Given the description of an element on the screen output the (x, y) to click on. 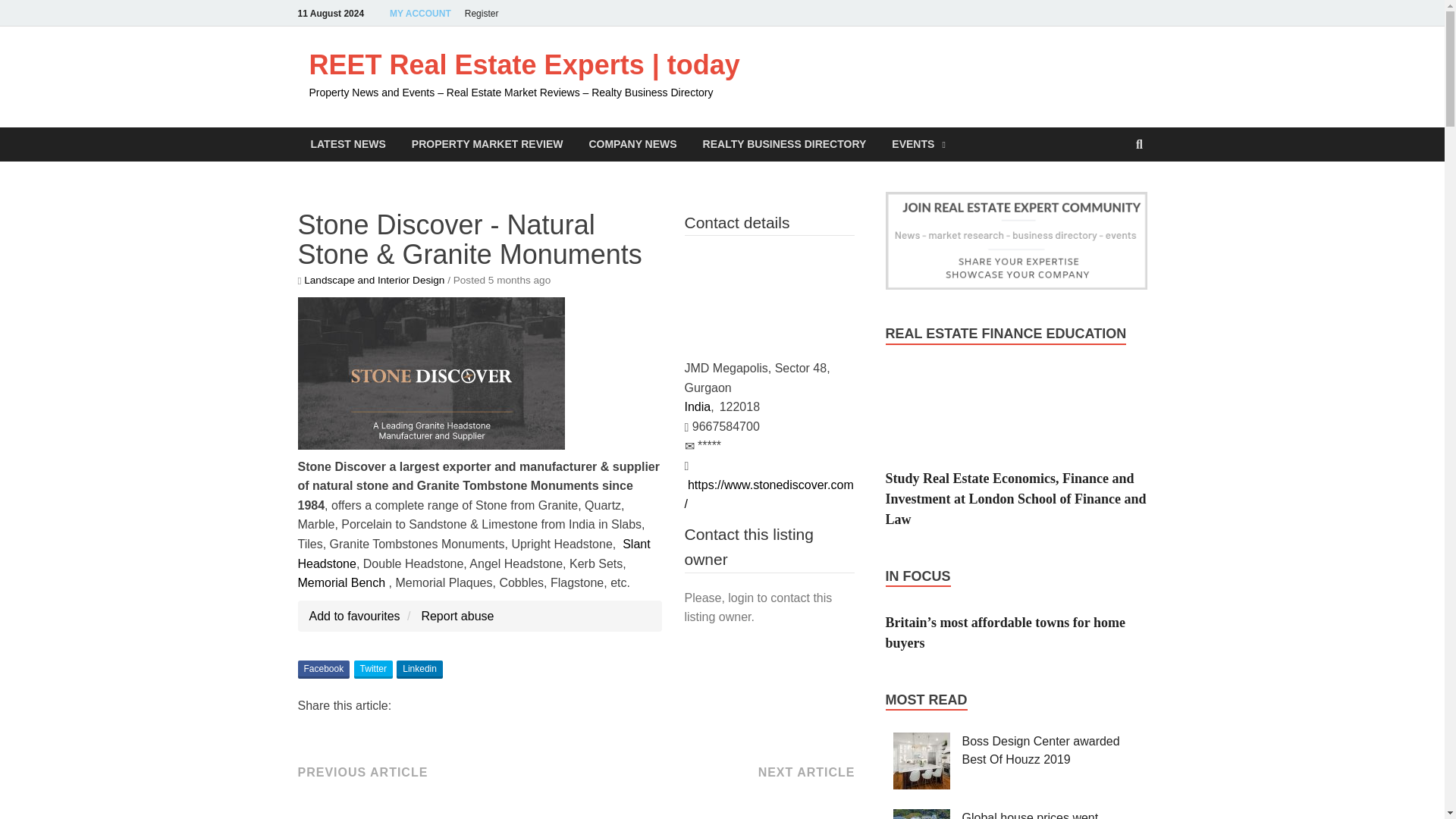
Slant Headstone (473, 553)
Report abuse (456, 615)
Facebook (323, 669)
REALTY BUSINESS DIRECTORY (784, 144)
Boss Design Center awarded Best Of Houzz 2019 (1040, 749)
MY ACCOUNT (420, 13)
COMPANY NEWS (631, 144)
EVENTS (918, 144)
Global house prices went stratospheric in 2020 (1030, 815)
Linkedin (419, 669)
